Given the description of an element on the screen output the (x, y) to click on. 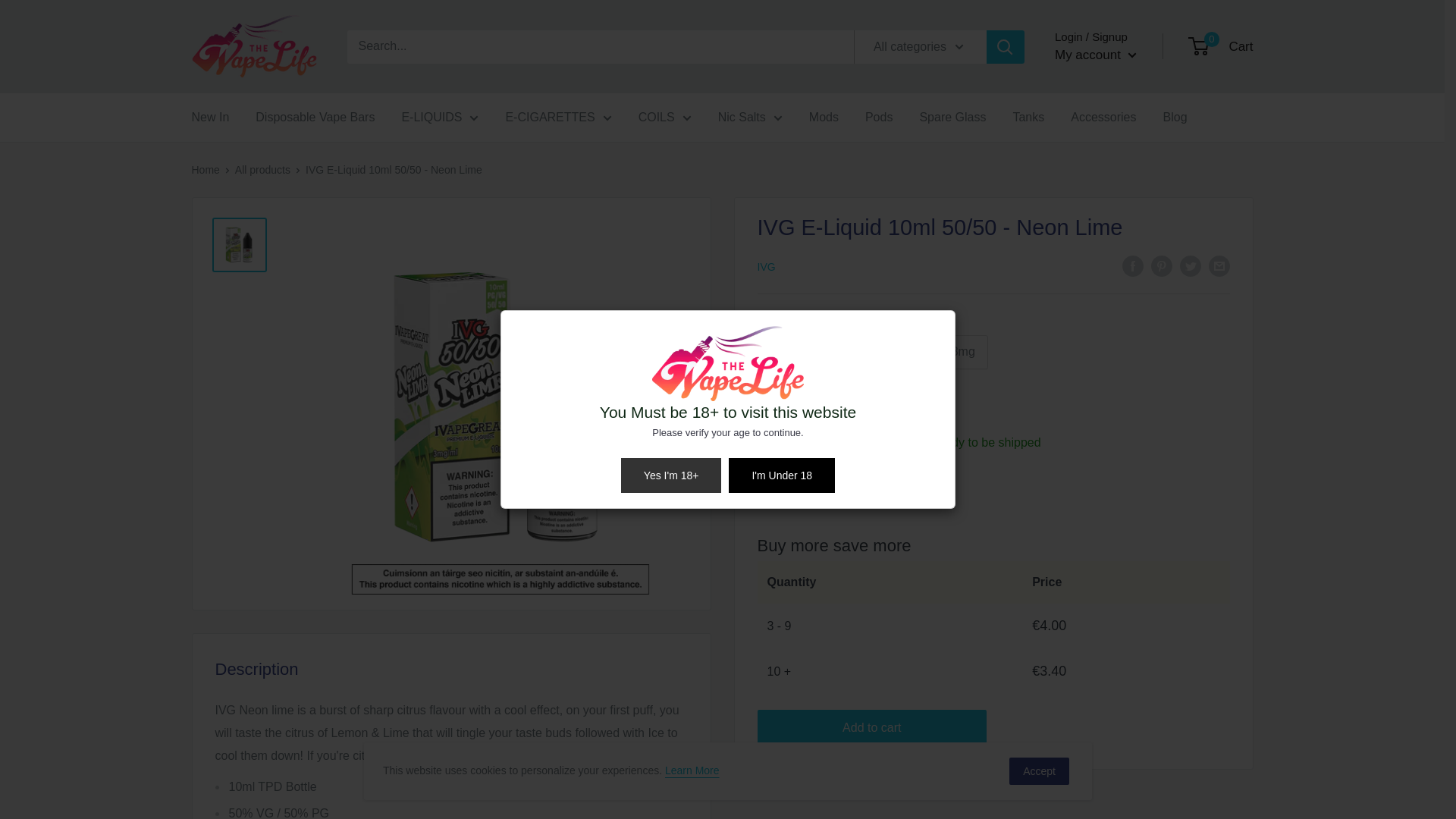
18mg (959, 351)
3mg (783, 351)
I'm Under 18 (781, 475)
12mg (897, 351)
6mg (838, 351)
